Given the description of an element on the screen output the (x, y) to click on. 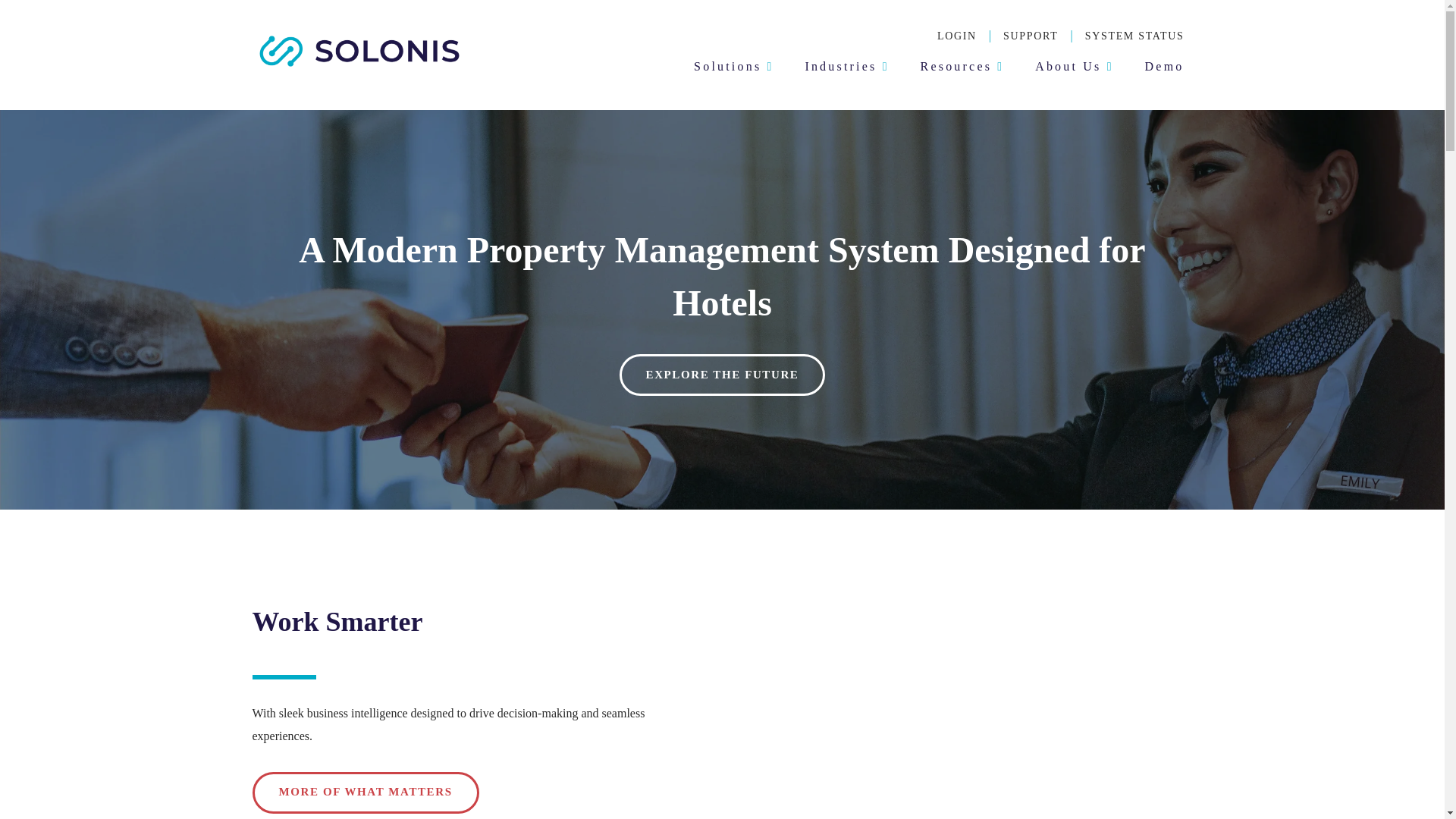
Solutions (730, 65)
EXPLORE THE FUTURE (722, 374)
SOLONIS LOGO  (359, 50)
Industries (843, 65)
LOGIN (956, 36)
SYSTEM STATUS (1134, 36)
MORE OF WHAT MATTERS (365, 793)
Demo (1164, 65)
Resources (958, 65)
SUPPORT (1030, 36)
